Given the description of an element on the screen output the (x, y) to click on. 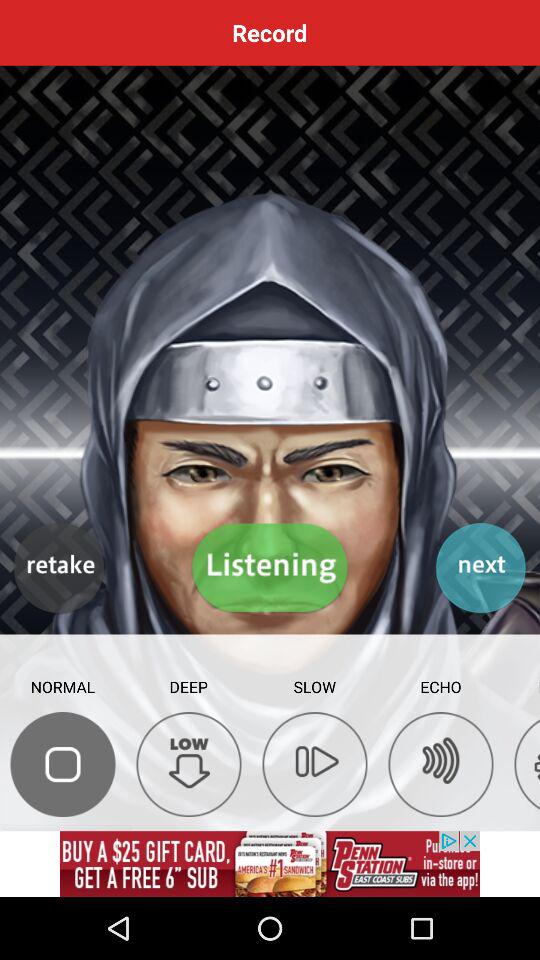
turn echo on (440, 764)
